Given the description of an element on the screen output the (x, y) to click on. 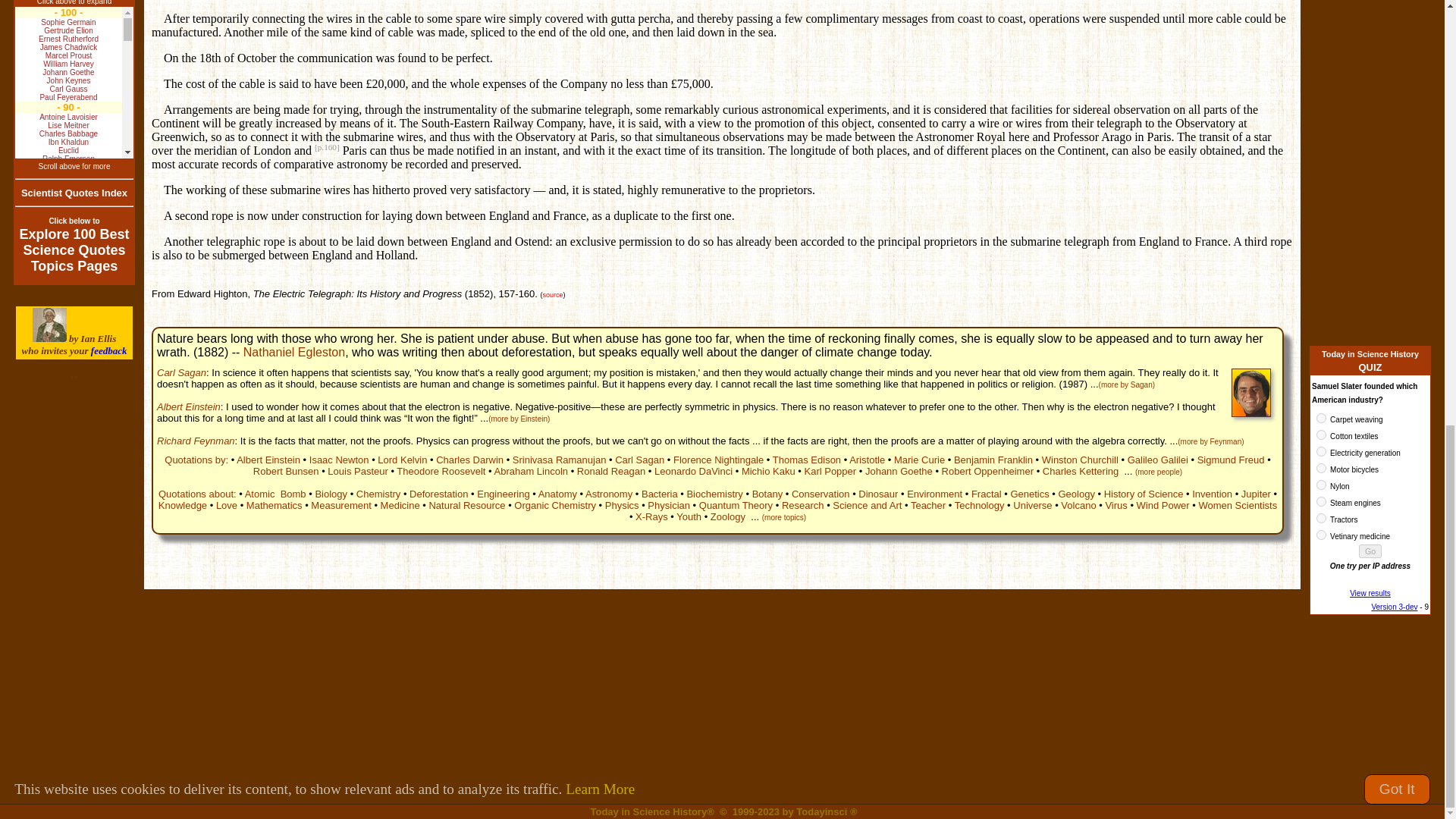
source (553, 294)
Quotations by: (196, 460)
Thomas Edison (807, 460)
Aristotle (866, 460)
Benjamin Franklin (992, 460)
Srinivasa Ramanujan (559, 460)
Albert Einstein (267, 460)
Nathaniel Egleston (294, 351)
Florence Nightingale (717, 460)
Richard Feynman (195, 440)
Albert Einstein (189, 406)
Lord Kelvin (401, 460)
Isaac Newton (338, 460)
Carl Sagan (638, 460)
Marie Curie (918, 460)
